Given the description of an element on the screen output the (x, y) to click on. 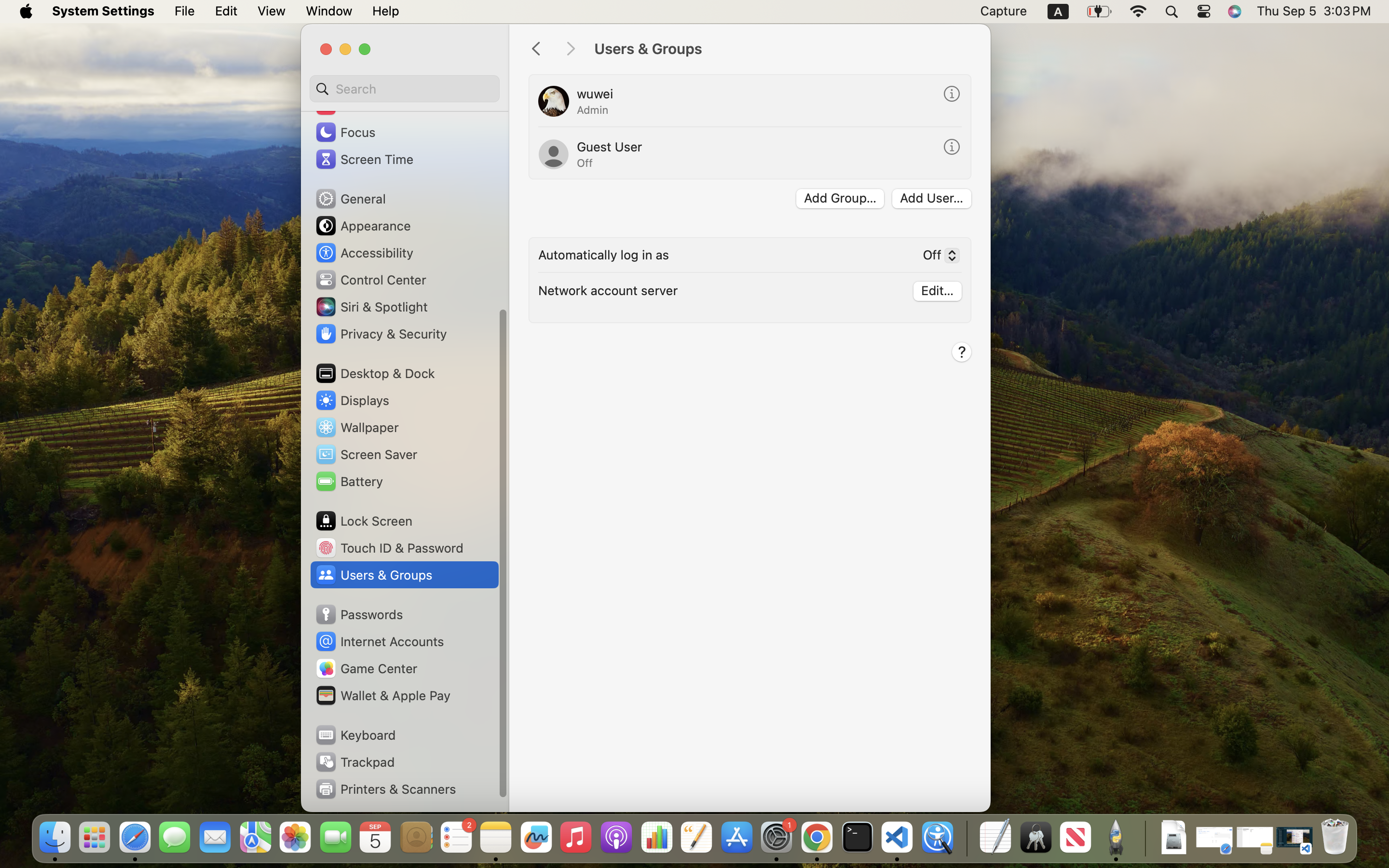
Network account server Element type: AXStaticText (608, 290)
Trackpad Element type: AXStaticText (354, 761)
Automatically log in as Element type: AXStaticText (603, 254)
Focus Element type: AXStaticText (344, 131)
